Given the description of an element on the screen output the (x, y) to click on. 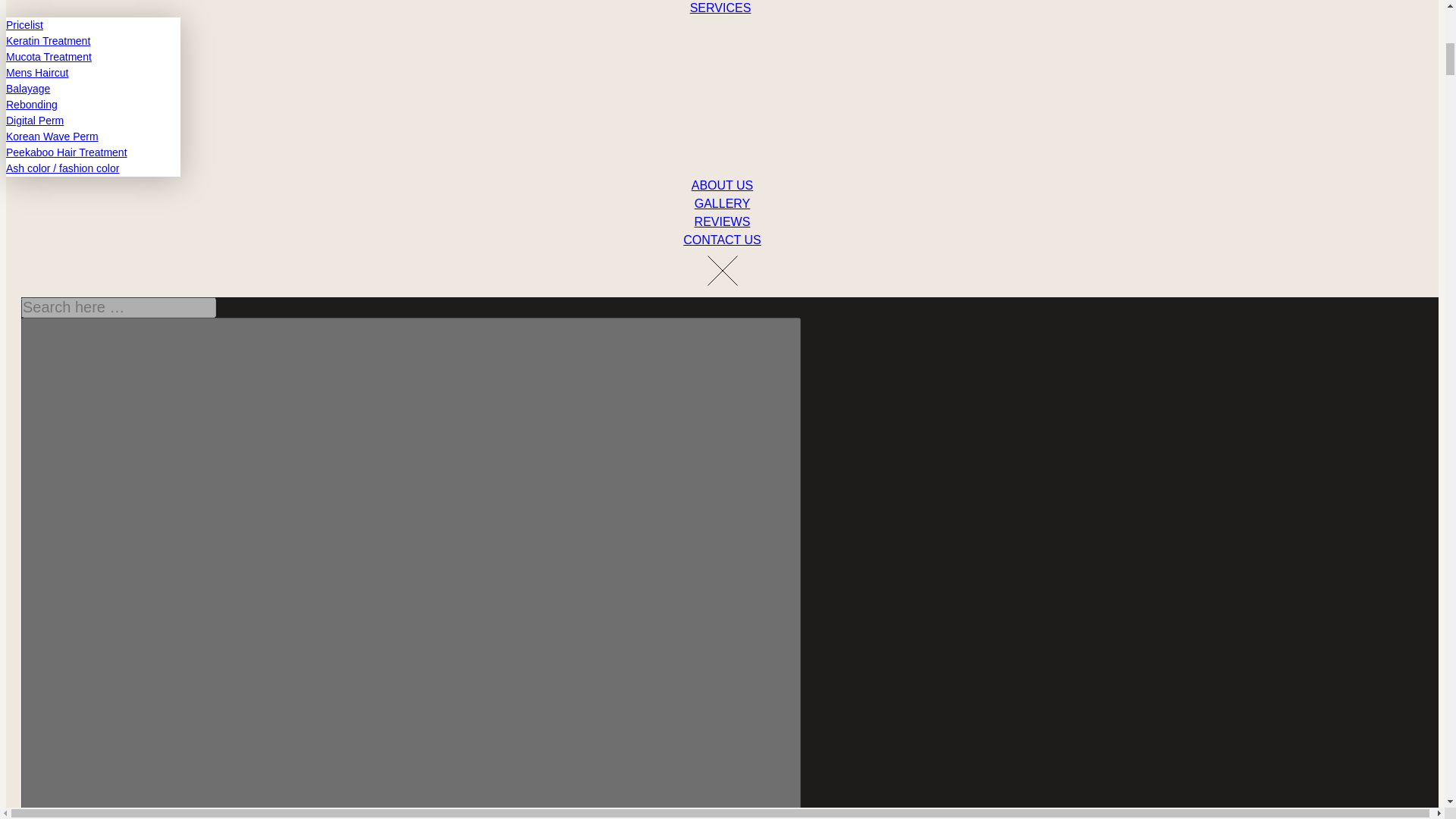
Keratin Treatment (47, 40)
Korean Wave Perm (52, 135)
ABOUT US (722, 185)
Mens Haircut (36, 72)
Peekaboo Hair Treatment (66, 151)
CONTACT US (722, 239)
Digital Perm (34, 119)
HOME (721, 2)
GALLERY (722, 203)
REVIEWS (722, 221)
Mucota Treatment (48, 56)
SERVICES (722, 11)
Rebonding (31, 103)
Balayage (27, 88)
Pricelist (24, 24)
